Given the description of an element on the screen output the (x, y) to click on. 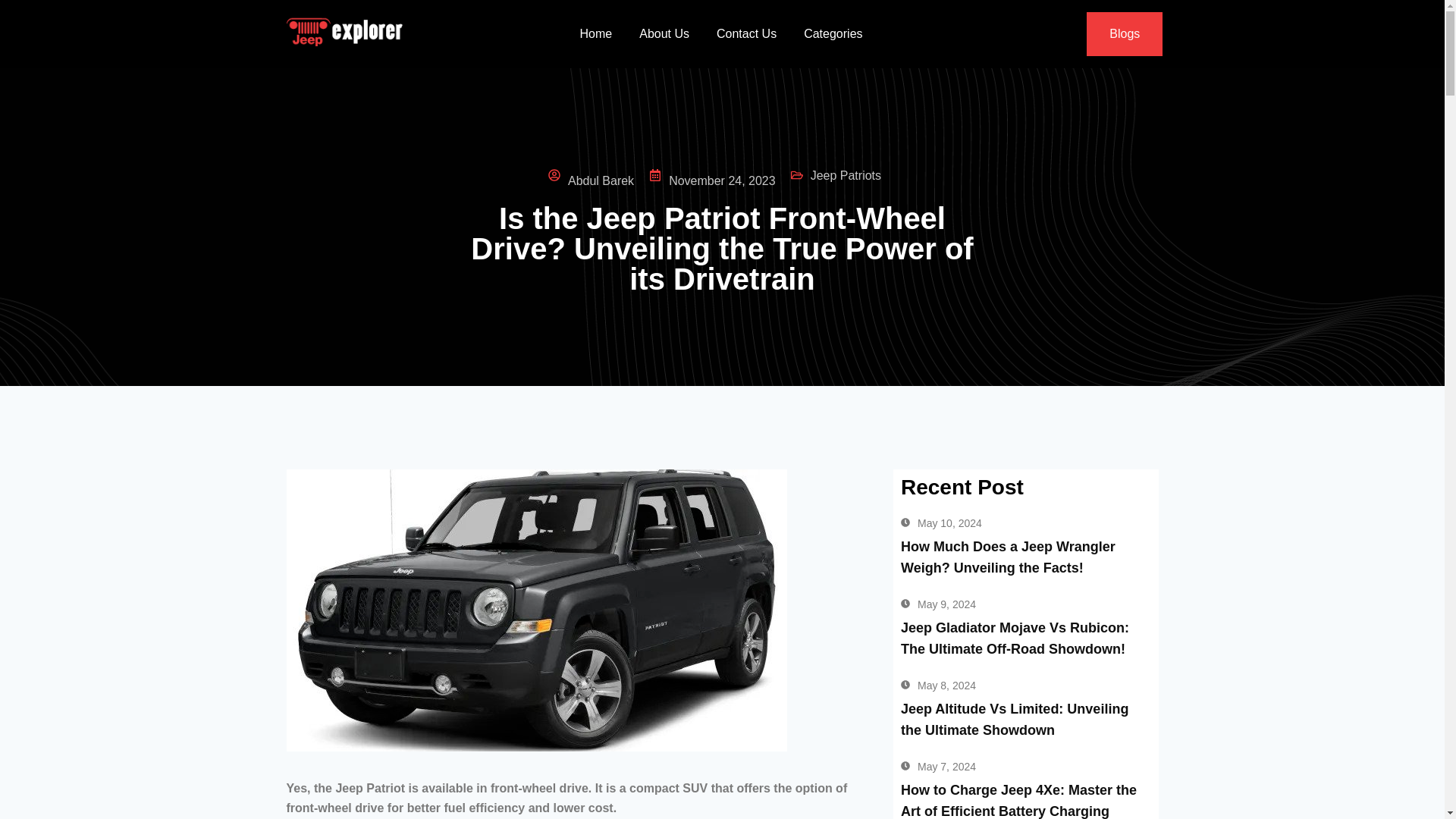
Categories (833, 33)
About Us (664, 33)
Contact Us (746, 33)
Blogs (1123, 34)
